Given the description of an element on the screen output the (x, y) to click on. 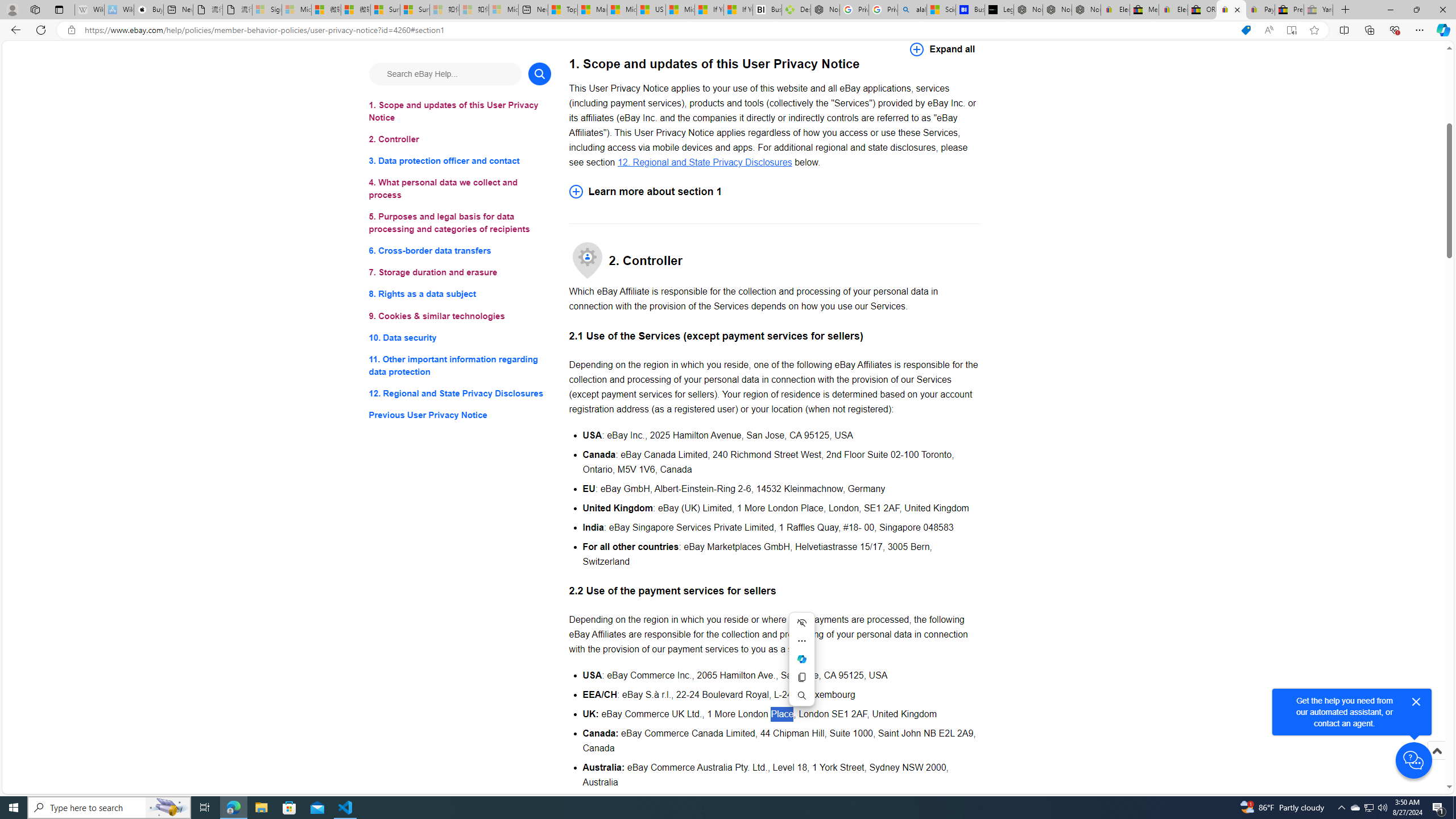
8. Rights as a data subject (459, 293)
Microsoft Services Agreement - Sleeping (295, 9)
